Given the description of an element on the screen output the (x, y) to click on. 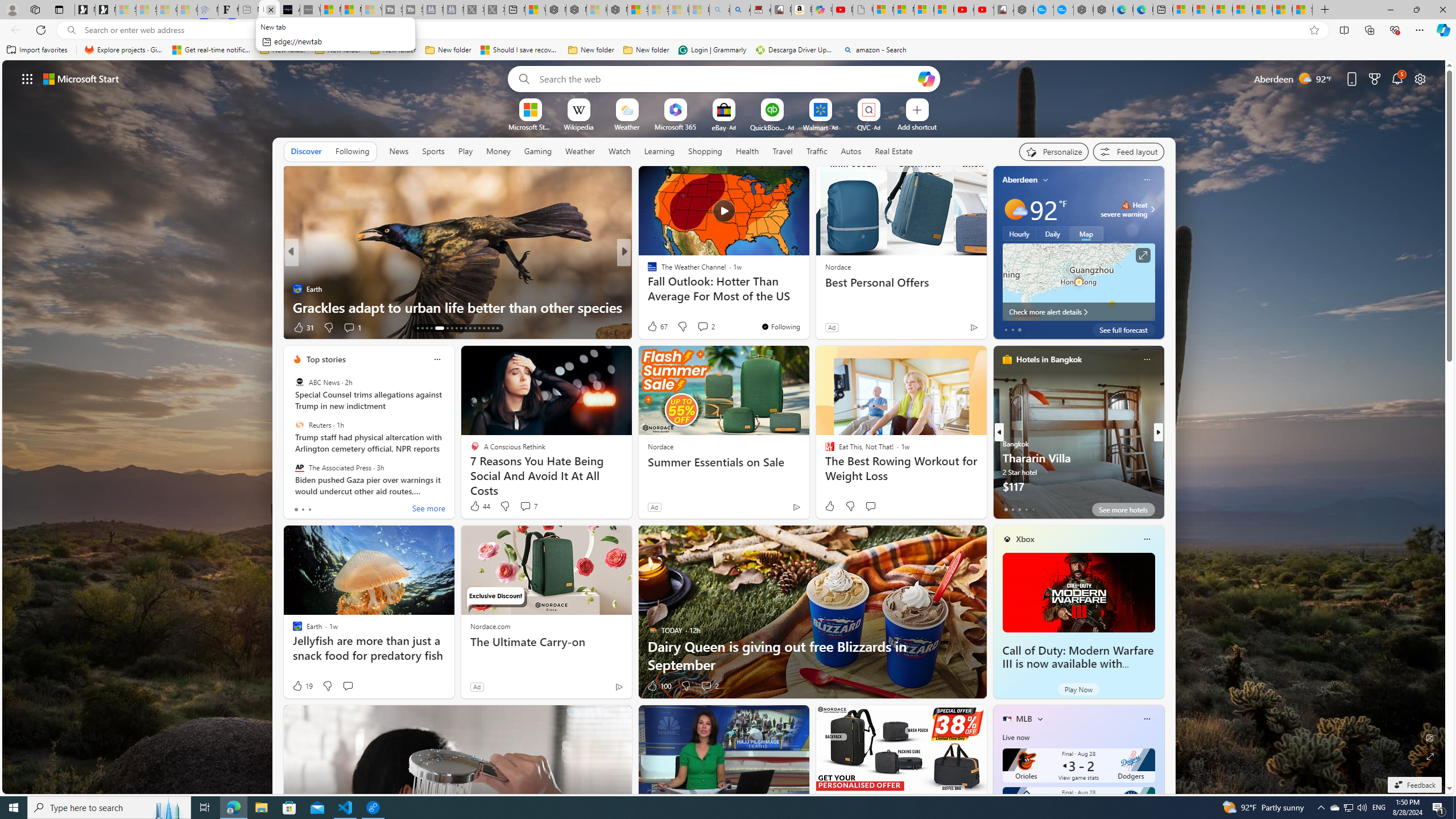
48 Like (652, 327)
Untitled (862, 9)
Mostly sunny (1014, 208)
previous (998, 432)
Money (498, 151)
View comments 3 Comment (705, 327)
Amazon Echo Dot PNG - Search Images (740, 9)
AutomationID: tab-28 (474, 328)
Sports (432, 151)
Map (1085, 233)
